Given the description of an element on the screen output the (x, y) to click on. 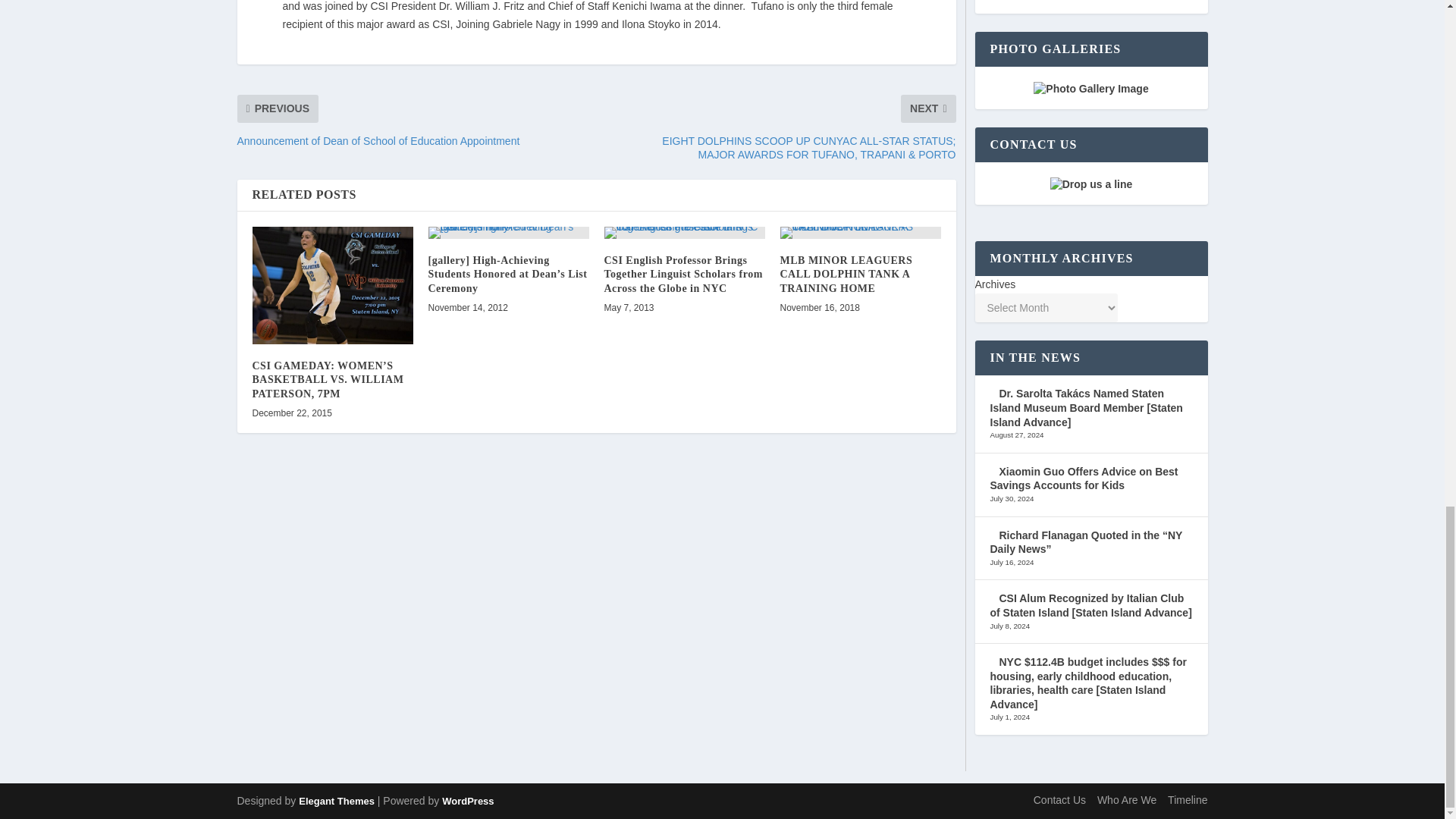
Premium WordPress Themes (336, 800)
MLB MINOR LEAGUERS CALL DOLPHIN TANK A TRAINING HOME (859, 232)
MLB MINOR LEAGUERS CALL DOLPHIN TANK A TRAINING HOME (845, 273)
